Given the description of an element on the screen output the (x, y) to click on. 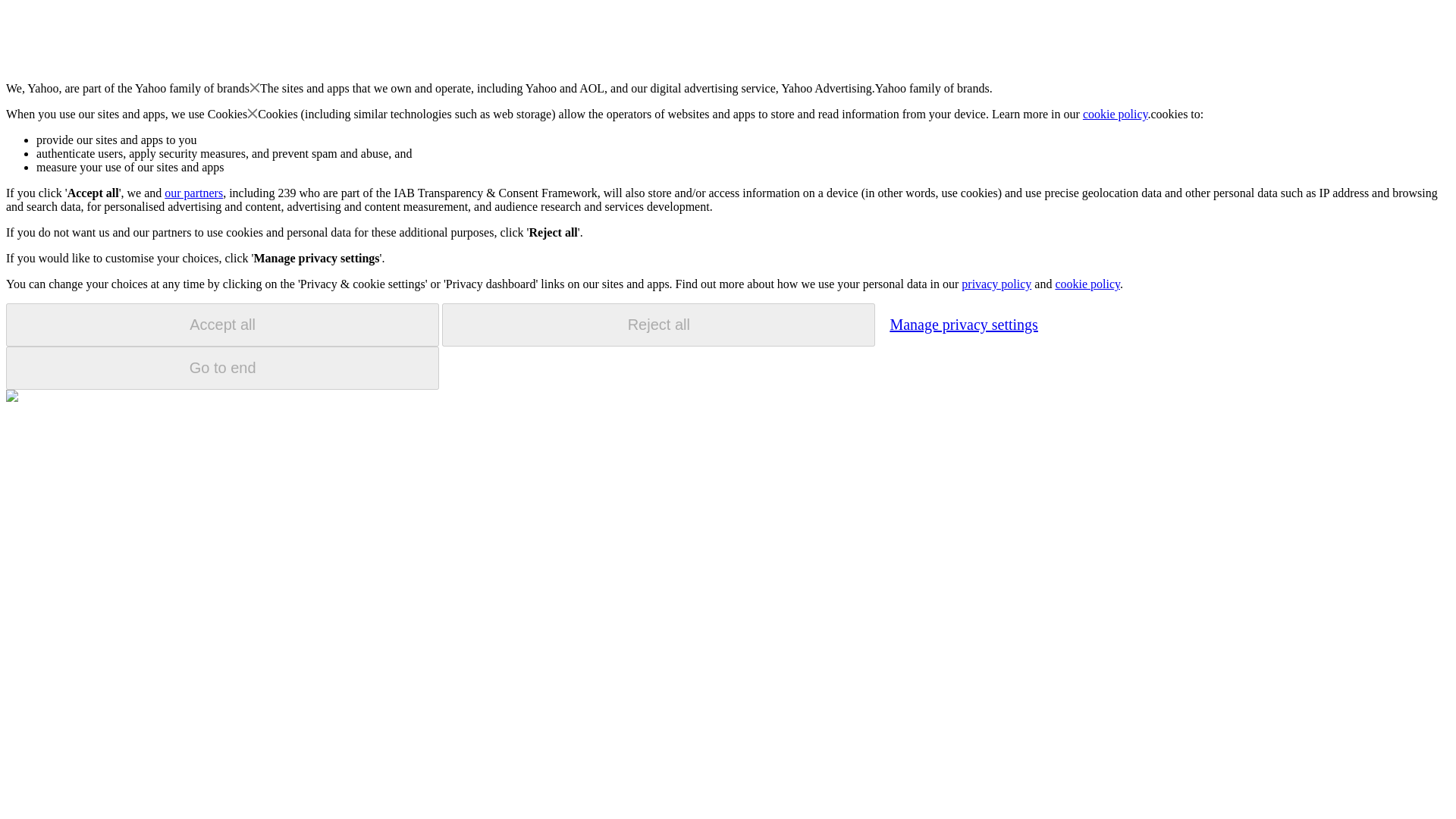
Go to end (222, 367)
cookie policy (1086, 283)
our partners (193, 192)
Accept all (222, 324)
privacy policy (995, 283)
Manage privacy settings (963, 323)
cookie policy (1115, 113)
Reject all (658, 324)
